Given the description of an element on the screen output the (x, y) to click on. 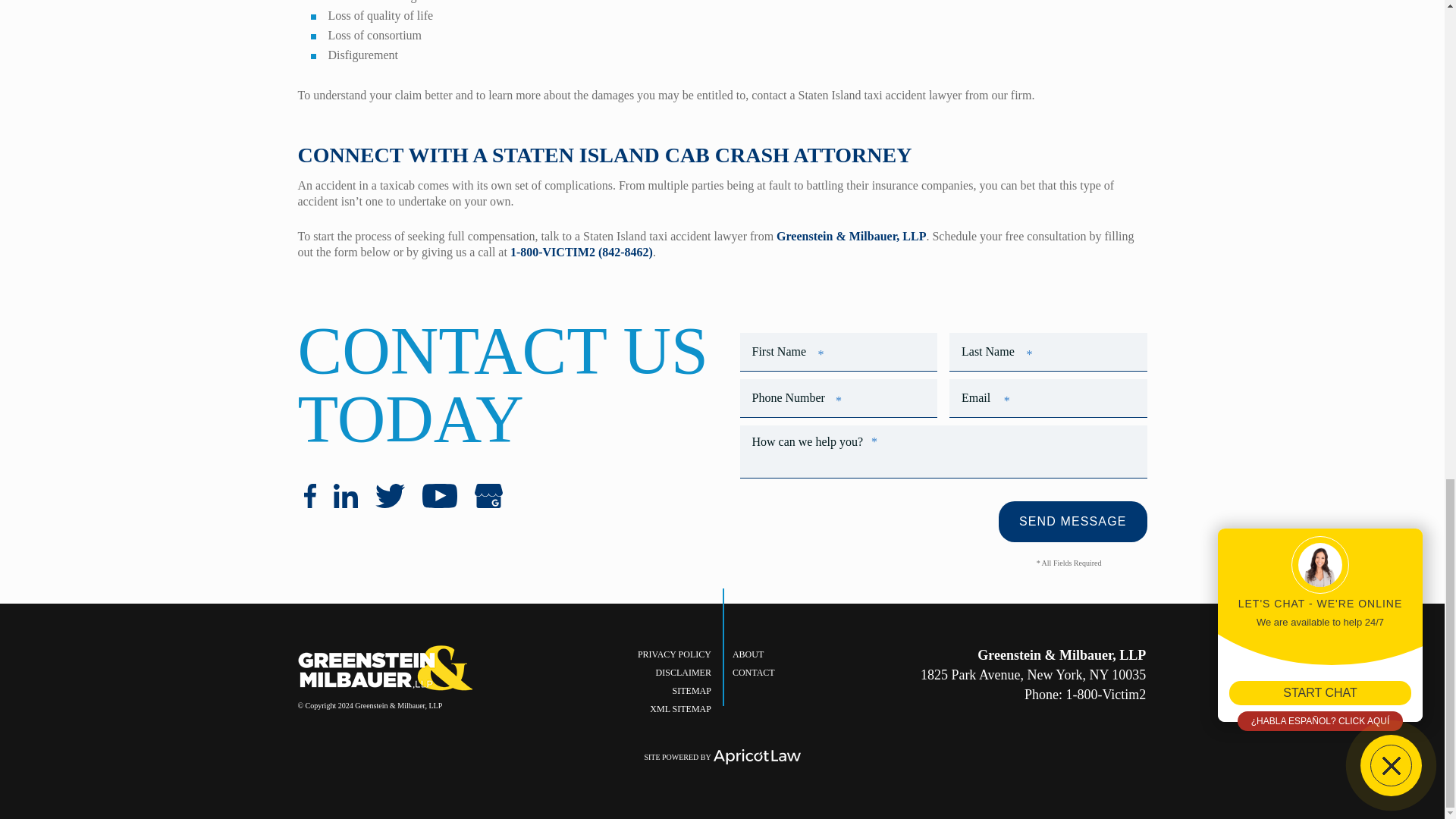
send message (1072, 521)
send message (1072, 521)
